Given the description of an element on the screen output the (x, y) to click on. 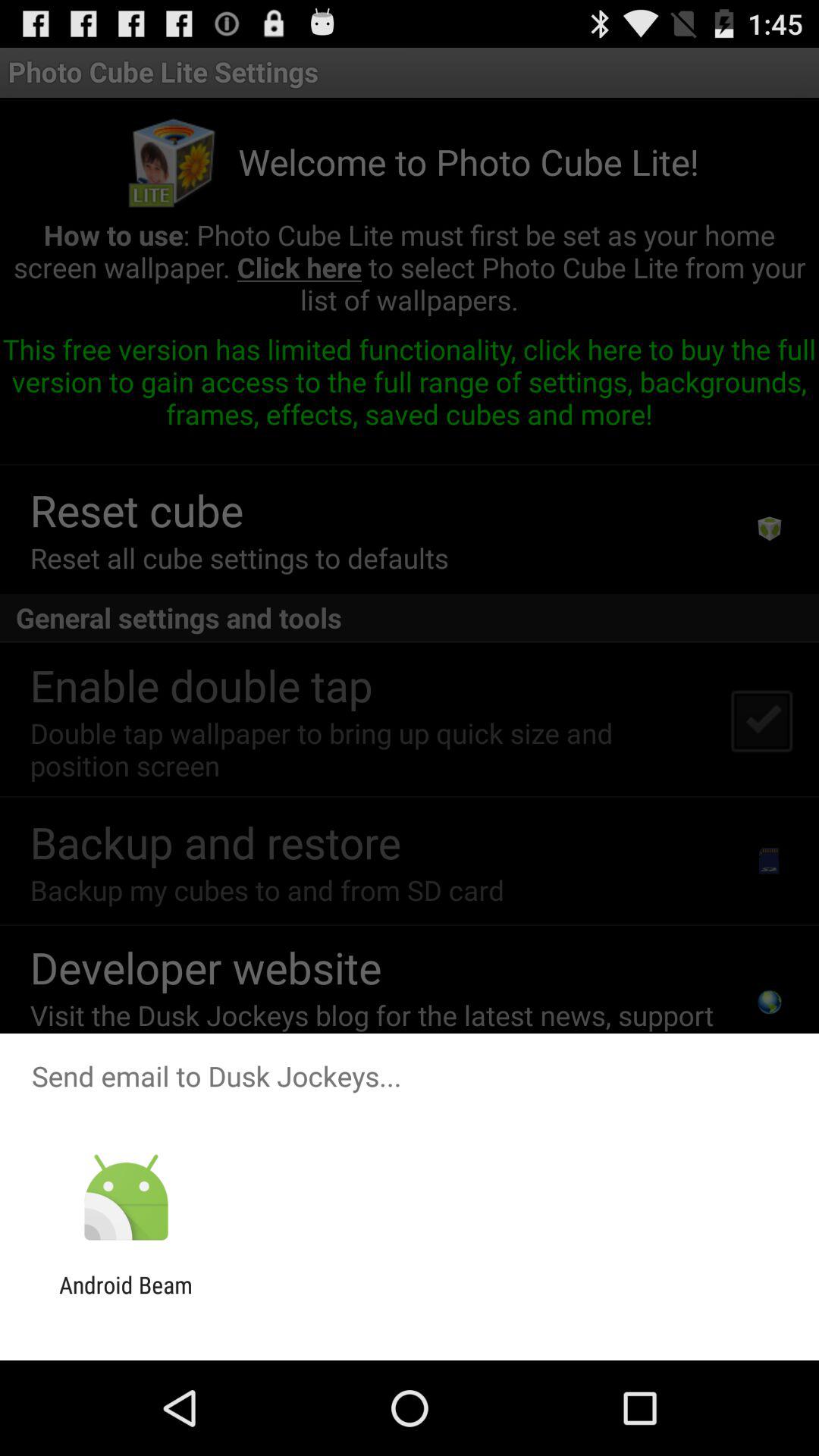
select icon below the send email to app (126, 1198)
